Given the description of an element on the screen output the (x, y) to click on. 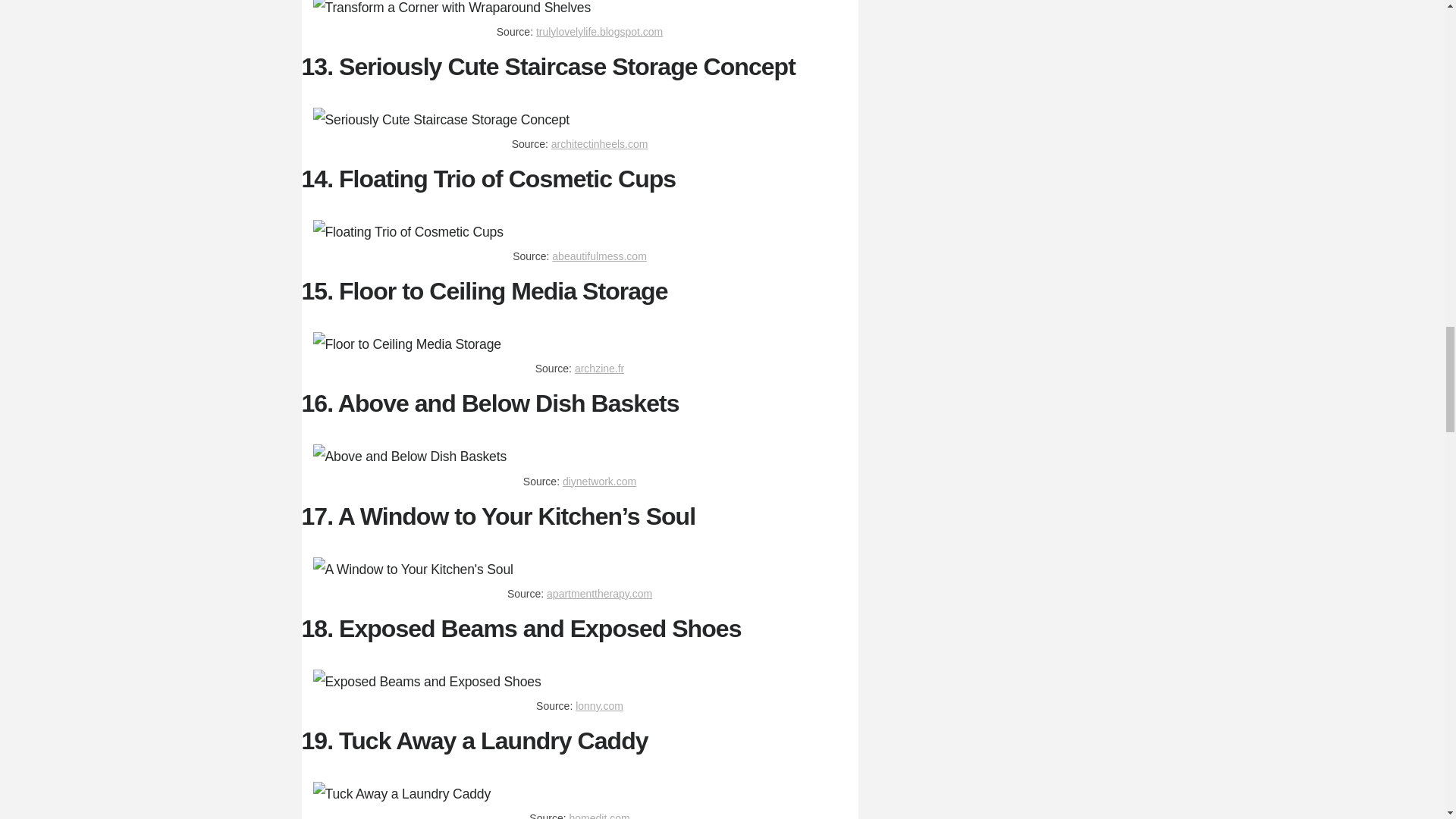
diynetwork.com (599, 480)
trulylovelylife.blogspot.com (598, 31)
architectinheels.com (599, 143)
abeautifulmess.com (598, 256)
homedit.com (598, 815)
archzine.fr (599, 368)
apartmenttherapy.com (599, 593)
lonny.com (599, 705)
